Given the description of an element on the screen output the (x, y) to click on. 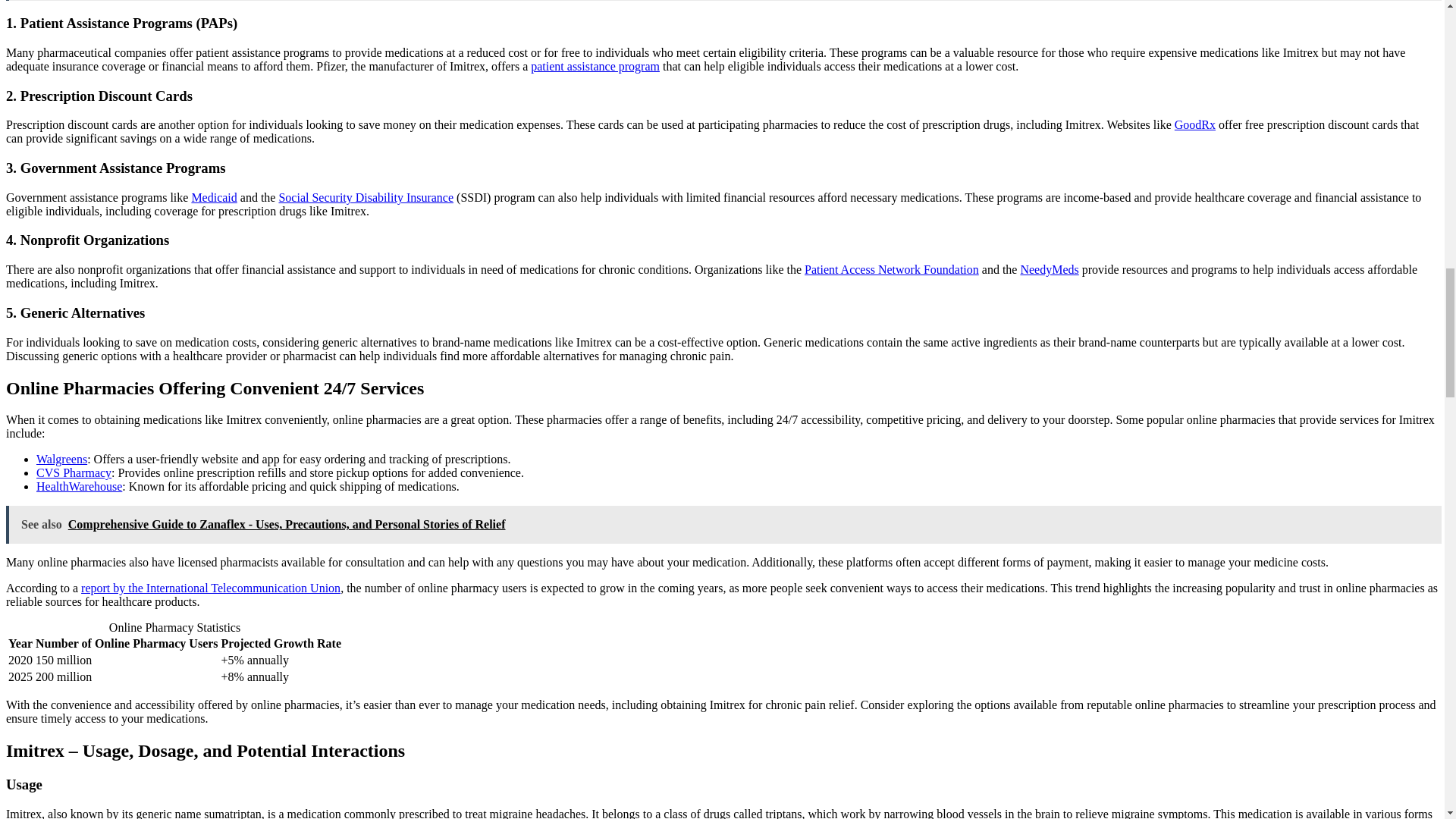
patient assistance program (595, 65)
Patient Access Network Foundation (891, 269)
CVS Pharmacy (74, 472)
Medicaid (212, 196)
HealthWarehouse (79, 486)
report by the International Telecommunication Union (210, 587)
NeedyMeds (1049, 269)
GoodRx (1194, 124)
Walgreens (61, 459)
Social Security Disability Insurance (365, 196)
